Given the description of an element on the screen output the (x, y) to click on. 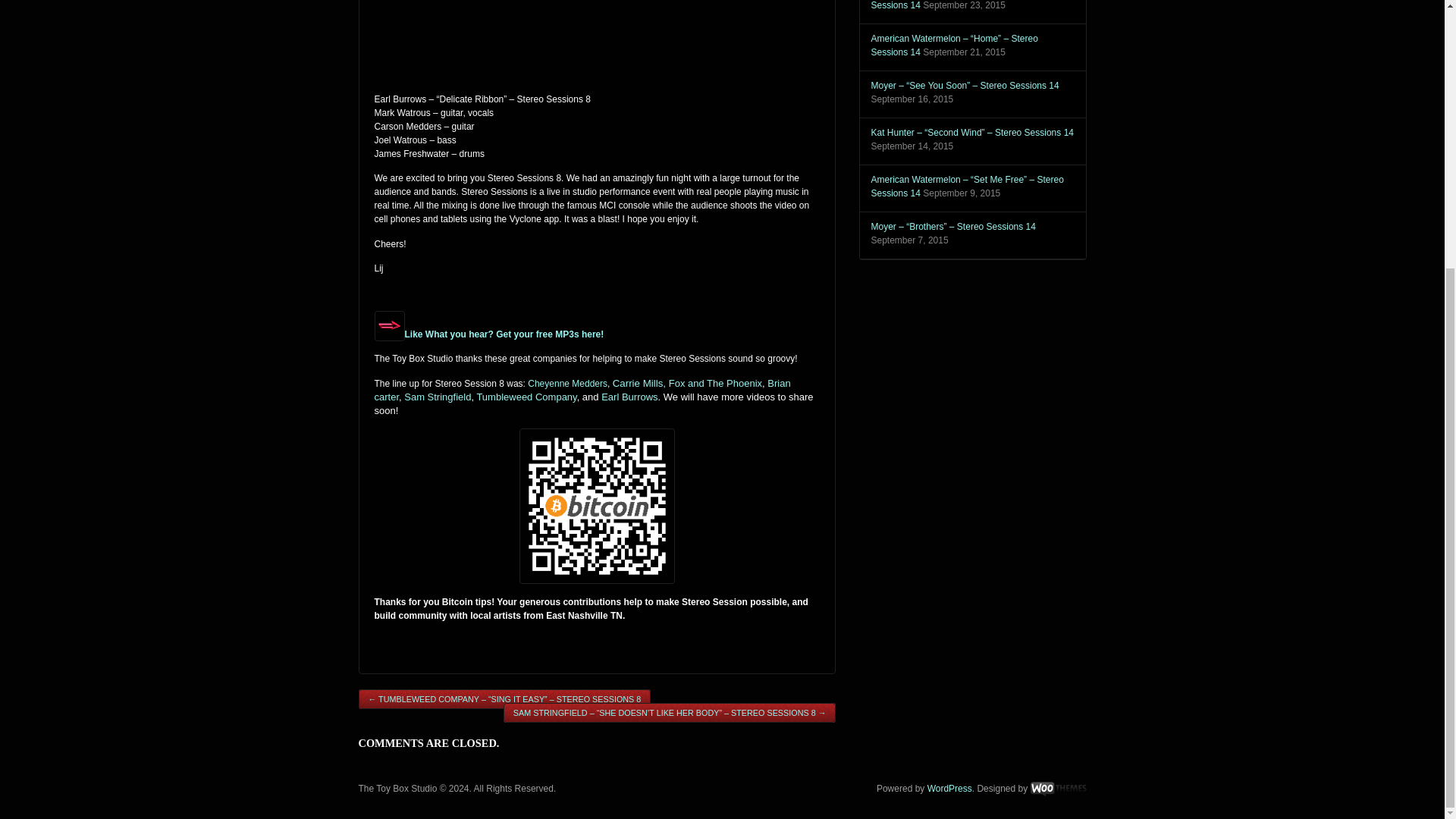
WordPress (949, 787)
Like What you hear? Get your free MP3s here! (504, 334)
Fox and The Phoenix (714, 383)
Cheyenne Medders (567, 382)
Brian carter (582, 389)
Earl Burrows (629, 396)
MP3 opt in (504, 334)
Tumbleweed Company (526, 396)
Carrie Mills, (638, 383)
Sam Stringfield (437, 396)
